Given the description of an element on the screen output the (x, y) to click on. 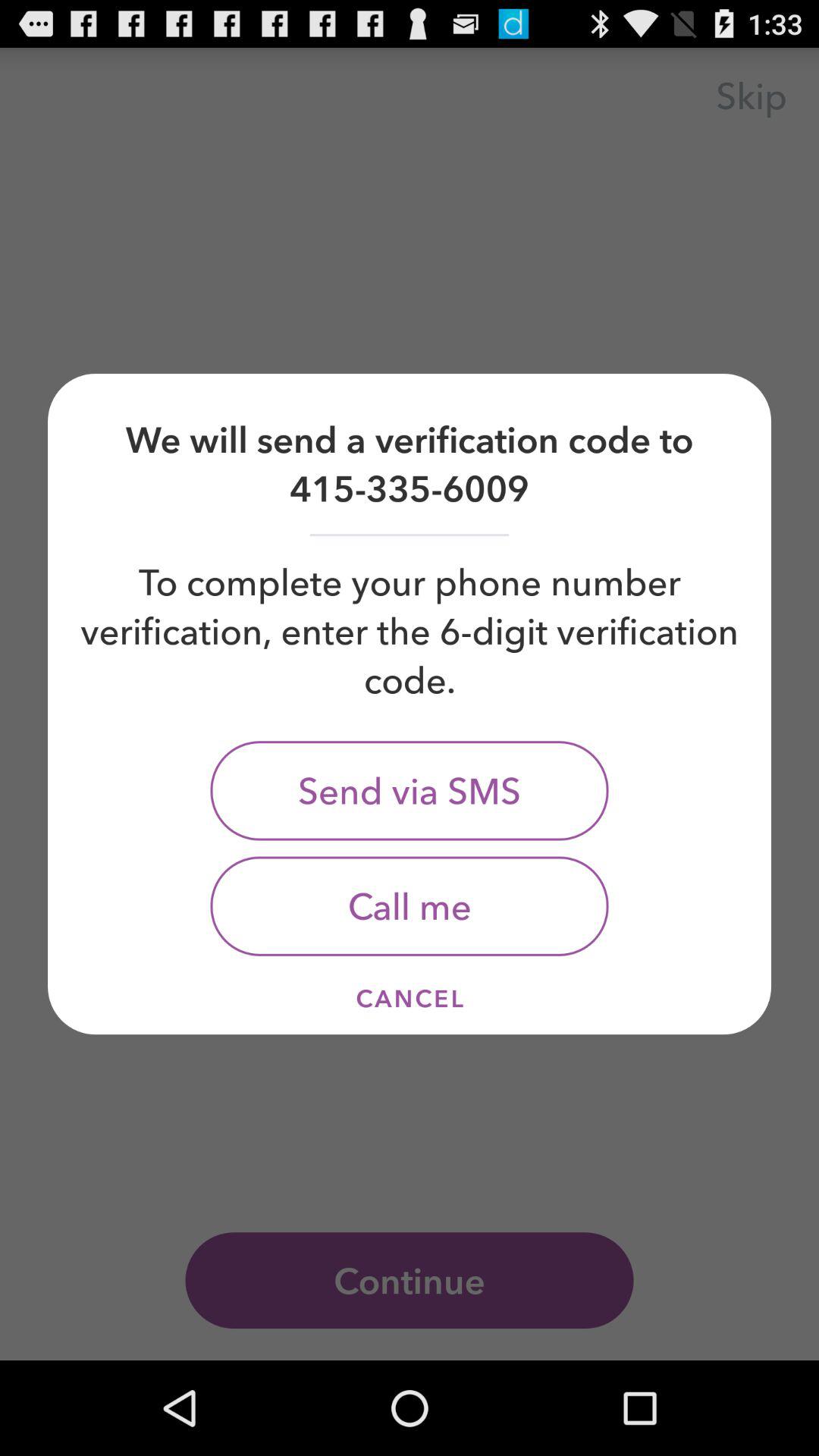
turn on item at the bottom (409, 998)
